Given the description of an element on the screen output the (x, y) to click on. 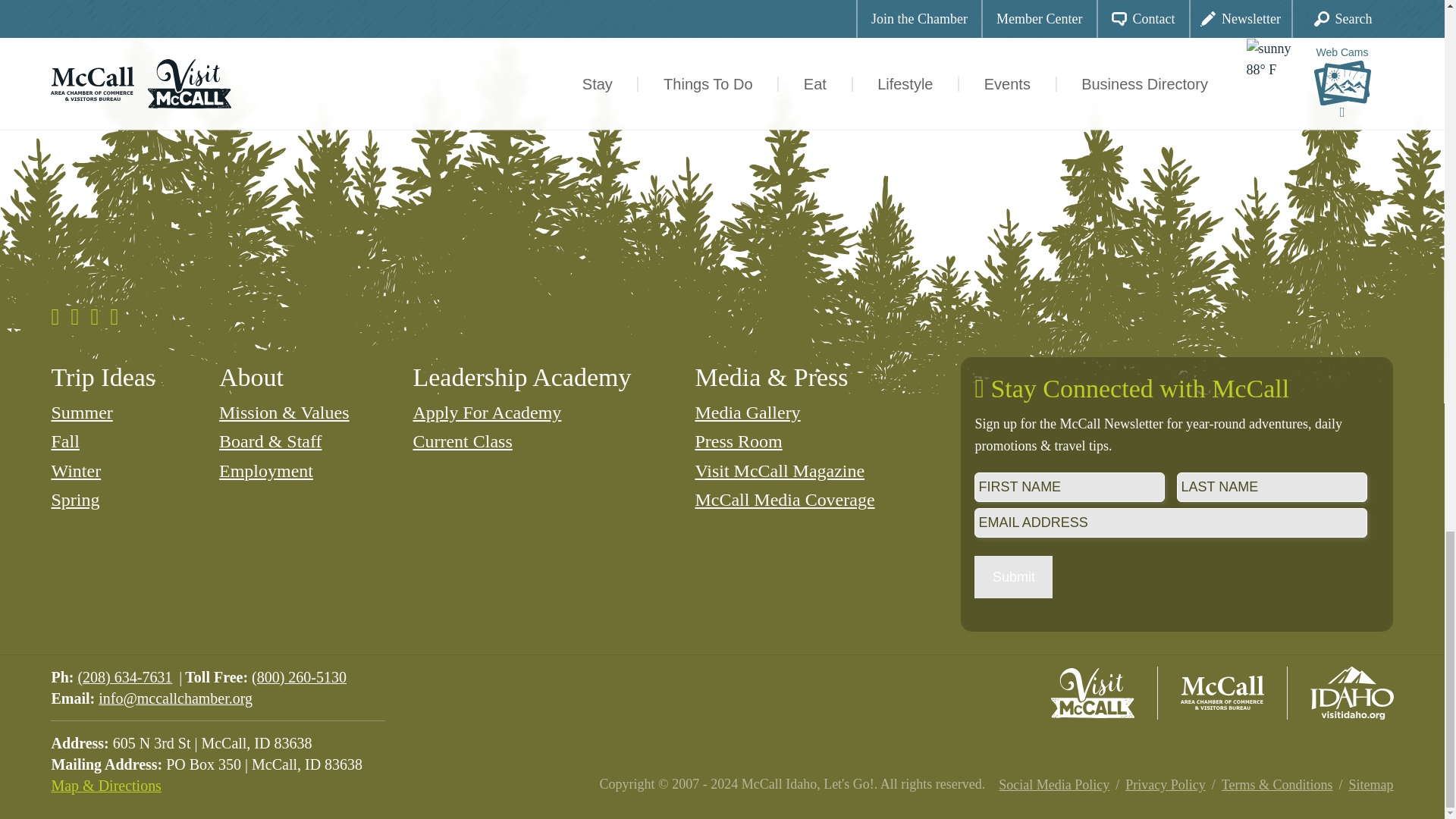
McCall Chamber (1221, 692)
Visit McCall (1092, 693)
Visit Idaho (1351, 692)
Submit (1013, 577)
